Given the description of an element on the screen output the (x, y) to click on. 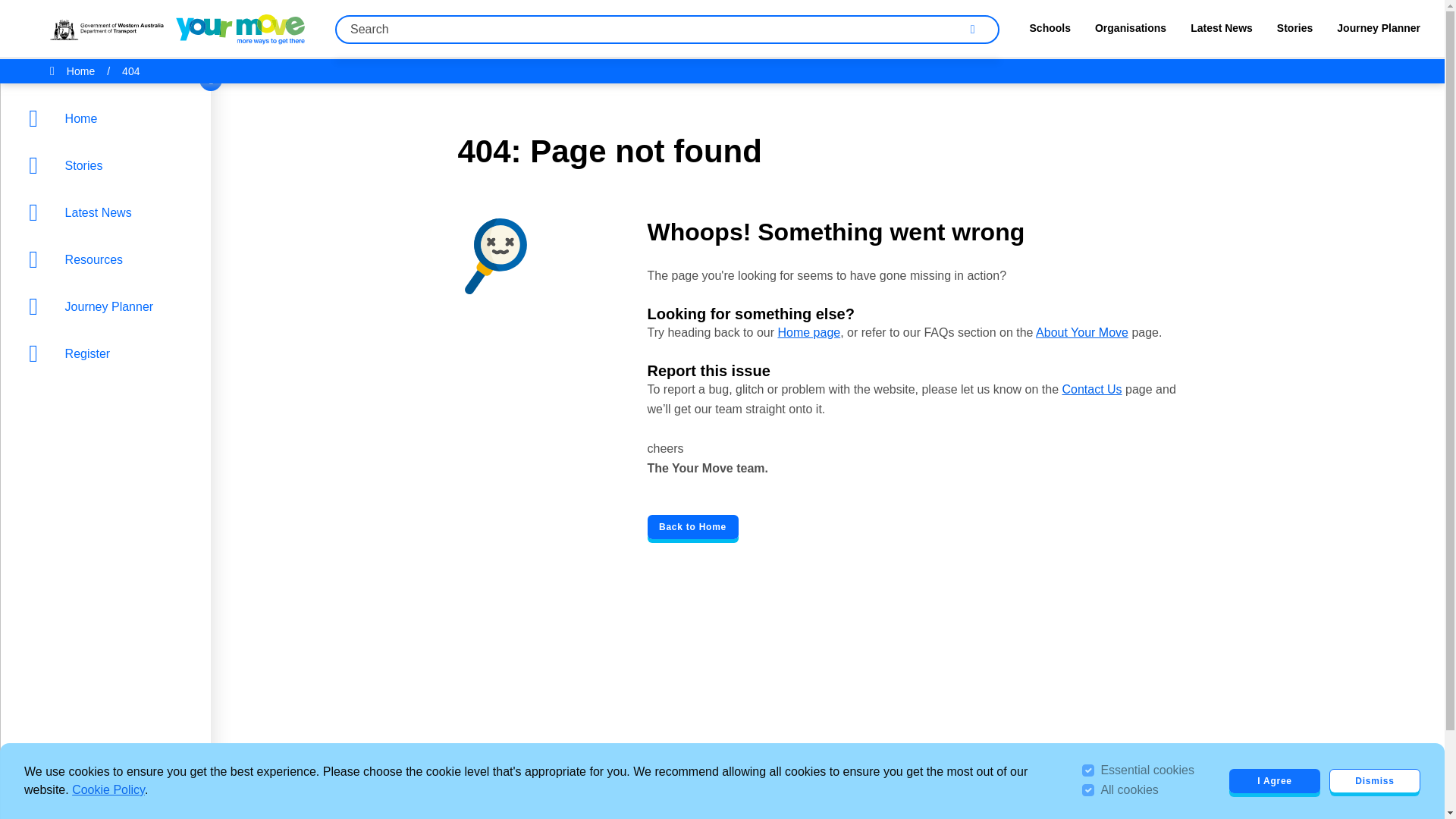
Home (109, 118)
Home (80, 70)
Journey Planner (1378, 31)
Register (109, 353)
Search (972, 29)
Latest News (109, 211)
Latest News (109, 211)
Latest News (1221, 31)
Home (109, 118)
Back to Home (692, 526)
